Given the description of an element on the screen output the (x, y) to click on. 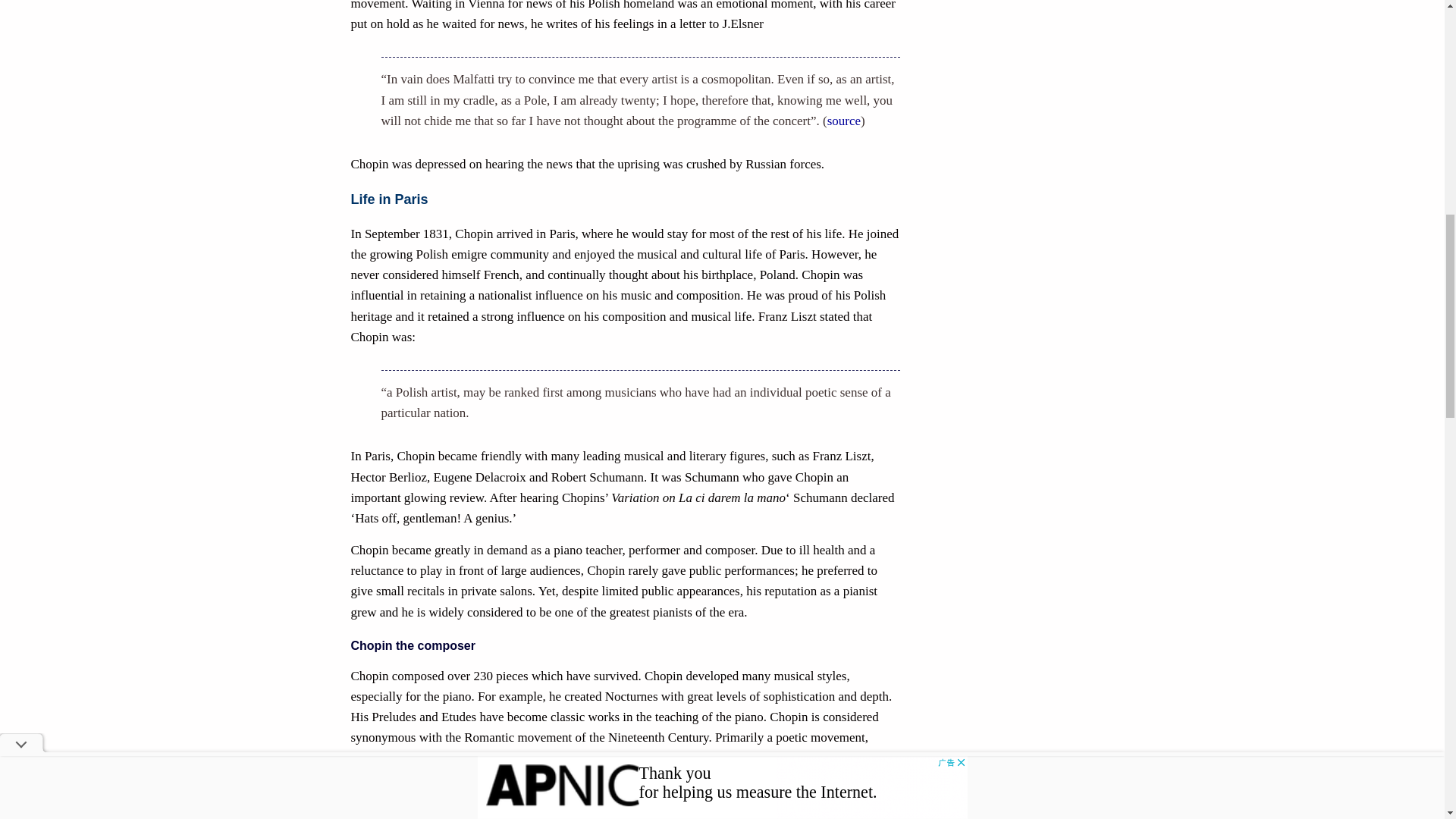
source (843, 120)
